Given the description of an element on the screen output the (x, y) to click on. 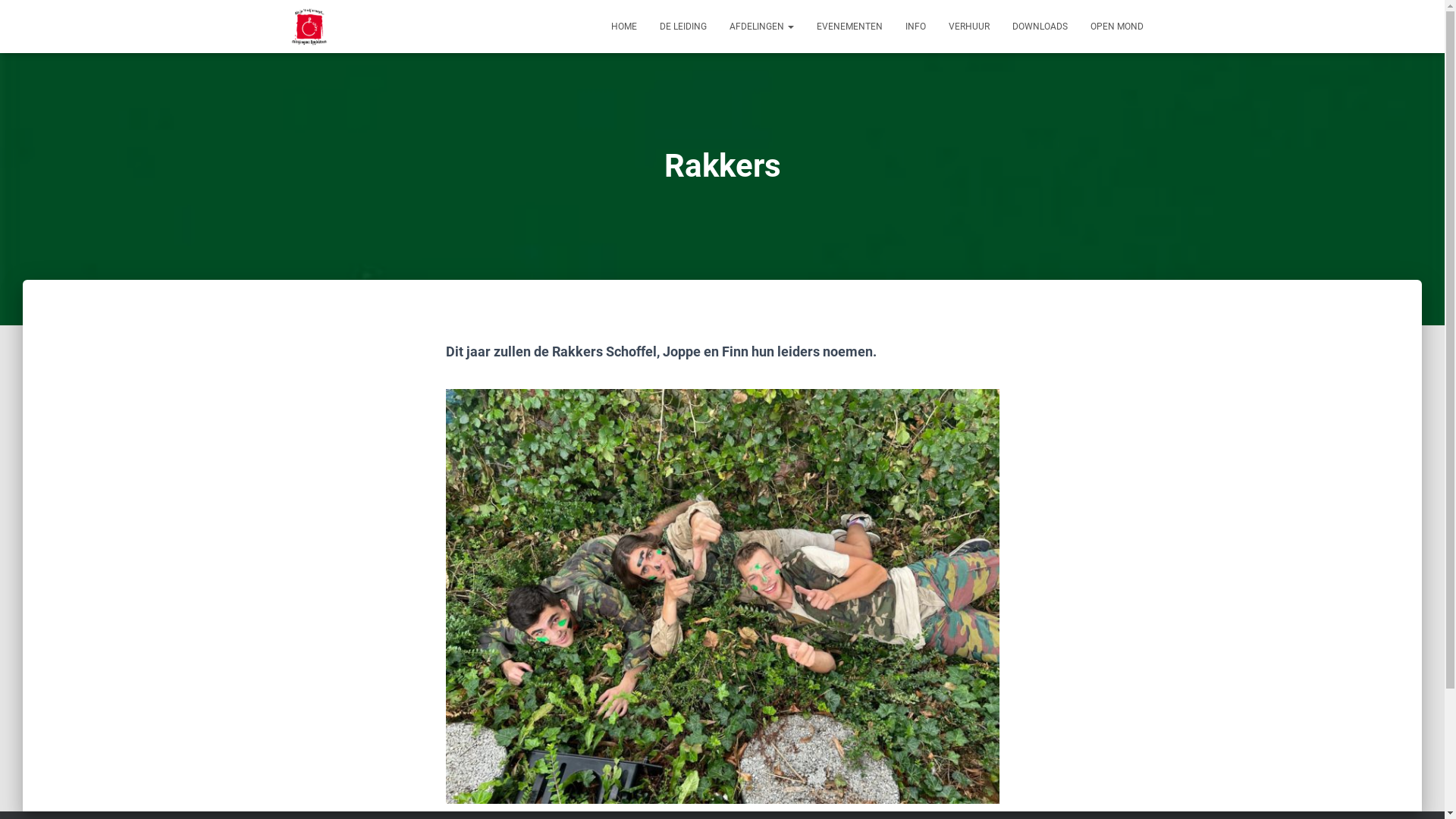
DOWNLOADS Element type: text (1040, 26)
EVENEMENTEN Element type: text (849, 26)
Chirojongens Opglabbeek Element type: hover (309, 26)
OPEN MOND Element type: text (1116, 26)
AFDELINGEN Element type: text (760, 26)
VERHUUR Element type: text (969, 26)
DE LEIDING Element type: text (682, 26)
INFO Element type: text (914, 26)
HOME Element type: text (623, 26)
